Given the description of an element on the screen output the (x, y) to click on. 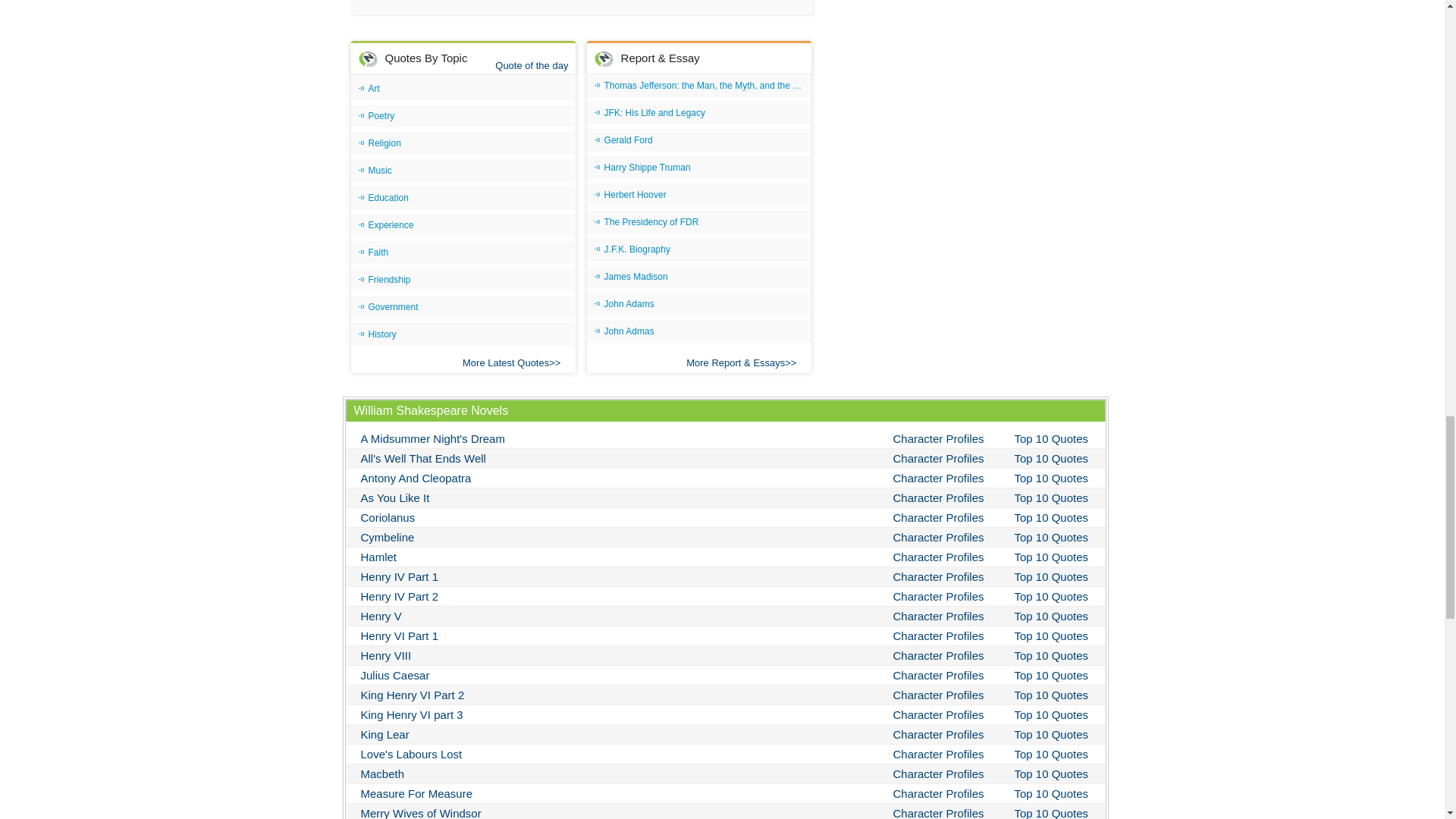
Quotes on Art and Showbiz (462, 88)
Quote of the day (531, 65)
Quotes over Religion (462, 143)
Quotes of Music and Compositions (462, 170)
Quotes on Poet and Poetry (462, 115)
